Given the description of an element on the screen output the (x, y) to click on. 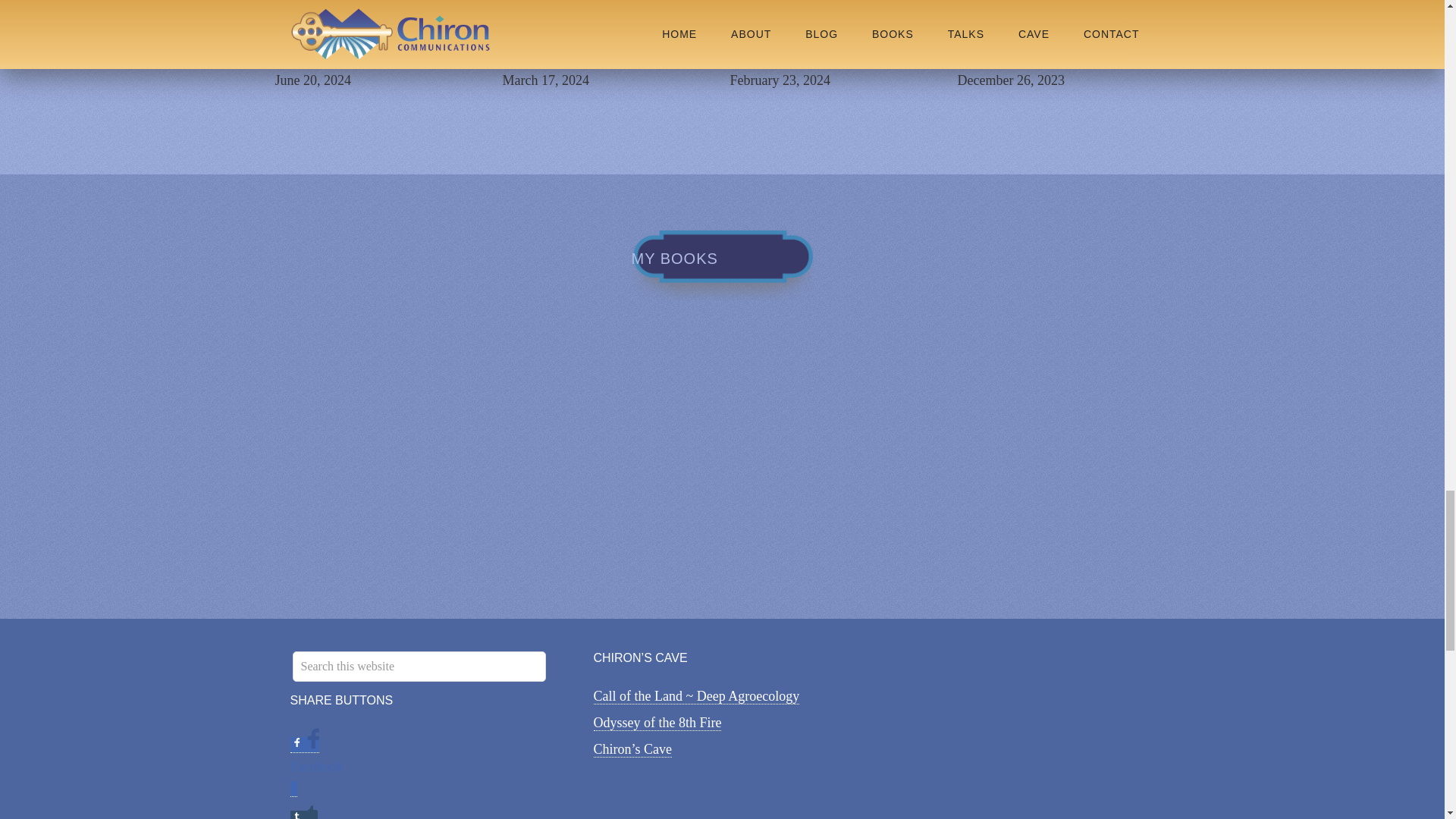
What are people for? What are farms for? (827, 46)
Sparks for the 8th Fire: a podcast (582, 46)
Time of Transition: Flowers of Possibility (371, 46)
Oeuvre Moeuvre: The earthwise works of Steven McFadden (1059, 46)
